Given the description of an element on the screen output the (x, y) to click on. 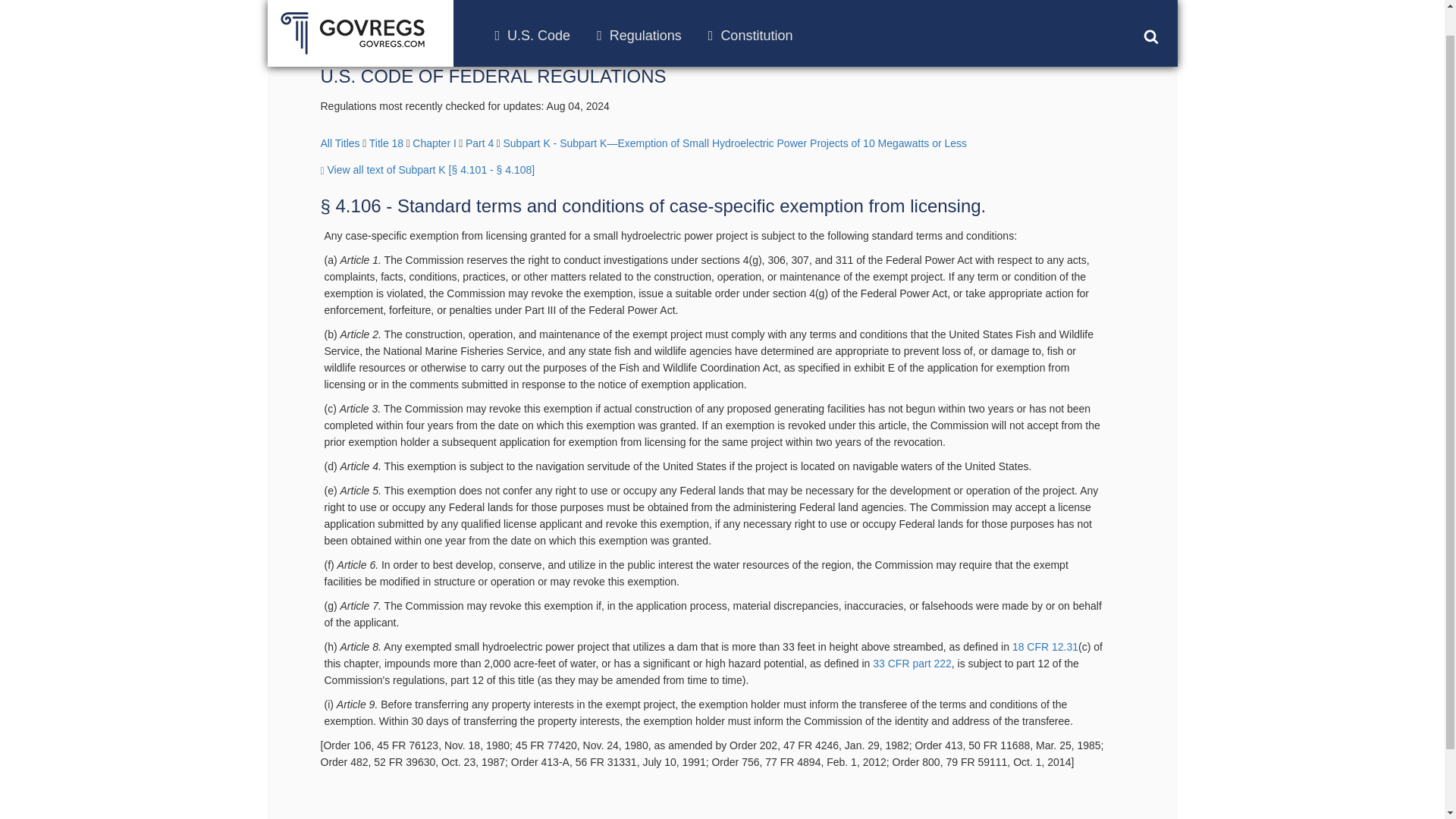
33 CFR part 222 (912, 663)
Constitution (750, 7)
Regulations (638, 7)
All Titles (339, 143)
18 CFR 12.31 (1044, 646)
Title 18 (386, 143)
U.S. Code (532, 7)
Chapter I (434, 143)
Part 4 (479, 143)
